Given the description of an element on the screen output the (x, y) to click on. 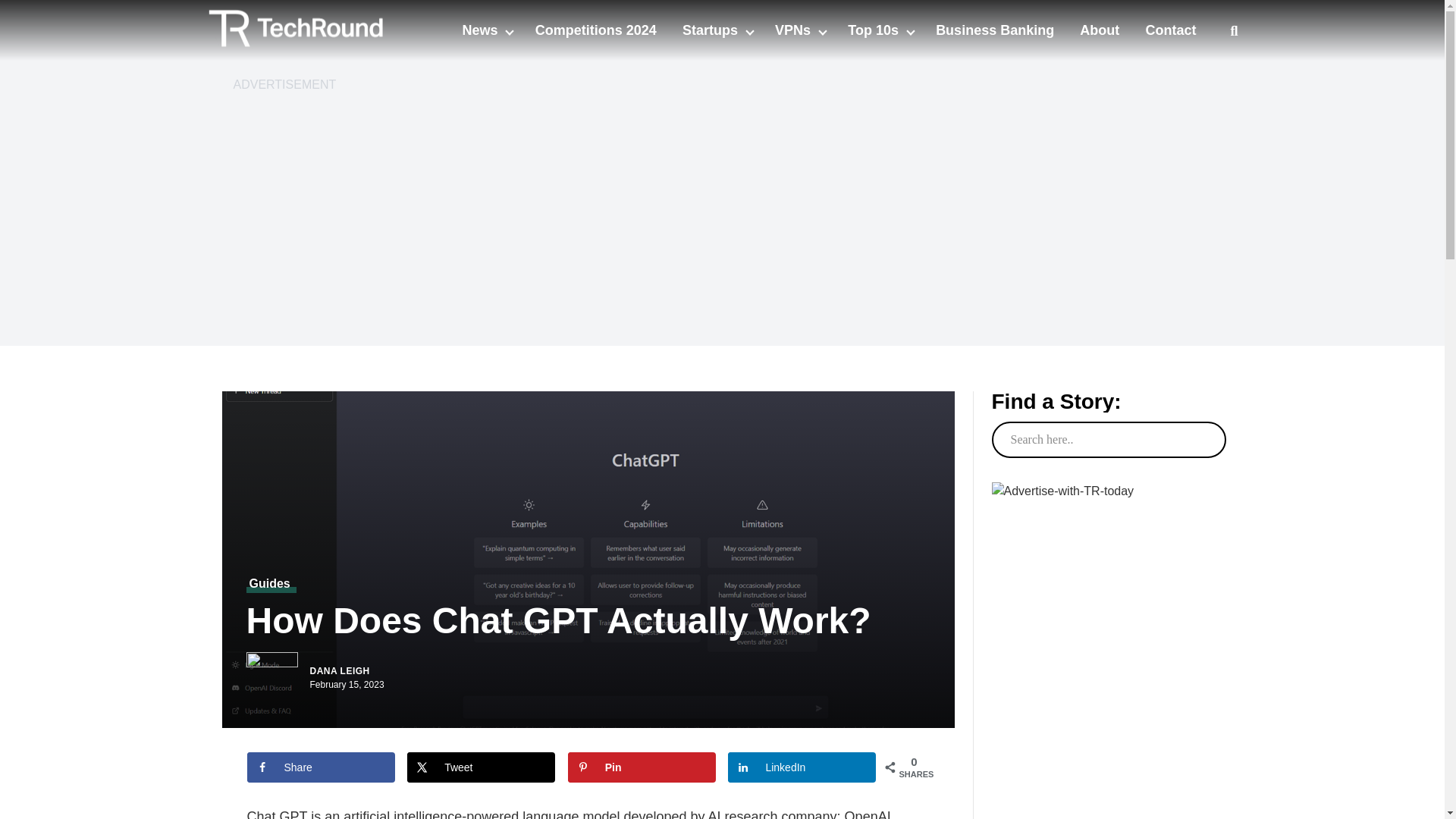
News (480, 30)
Save to Pinterest (641, 767)
Share on LinkedIn (802, 767)
Top 10s (874, 30)
VPNs (793, 30)
Advertisement (1107, 777)
Share on Facebook (320, 767)
Share on X (480, 767)
Competitions 2024 (596, 30)
Startups (711, 30)
